Given the description of an element on the screen output the (x, y) to click on. 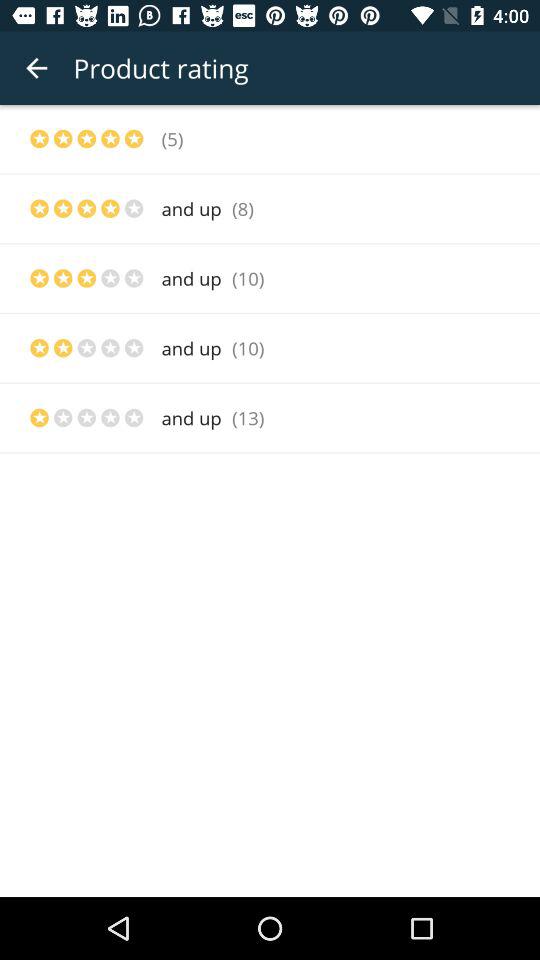
turn off the icon next to the product rating item (36, 68)
